Given the description of an element on the screen output the (x, y) to click on. 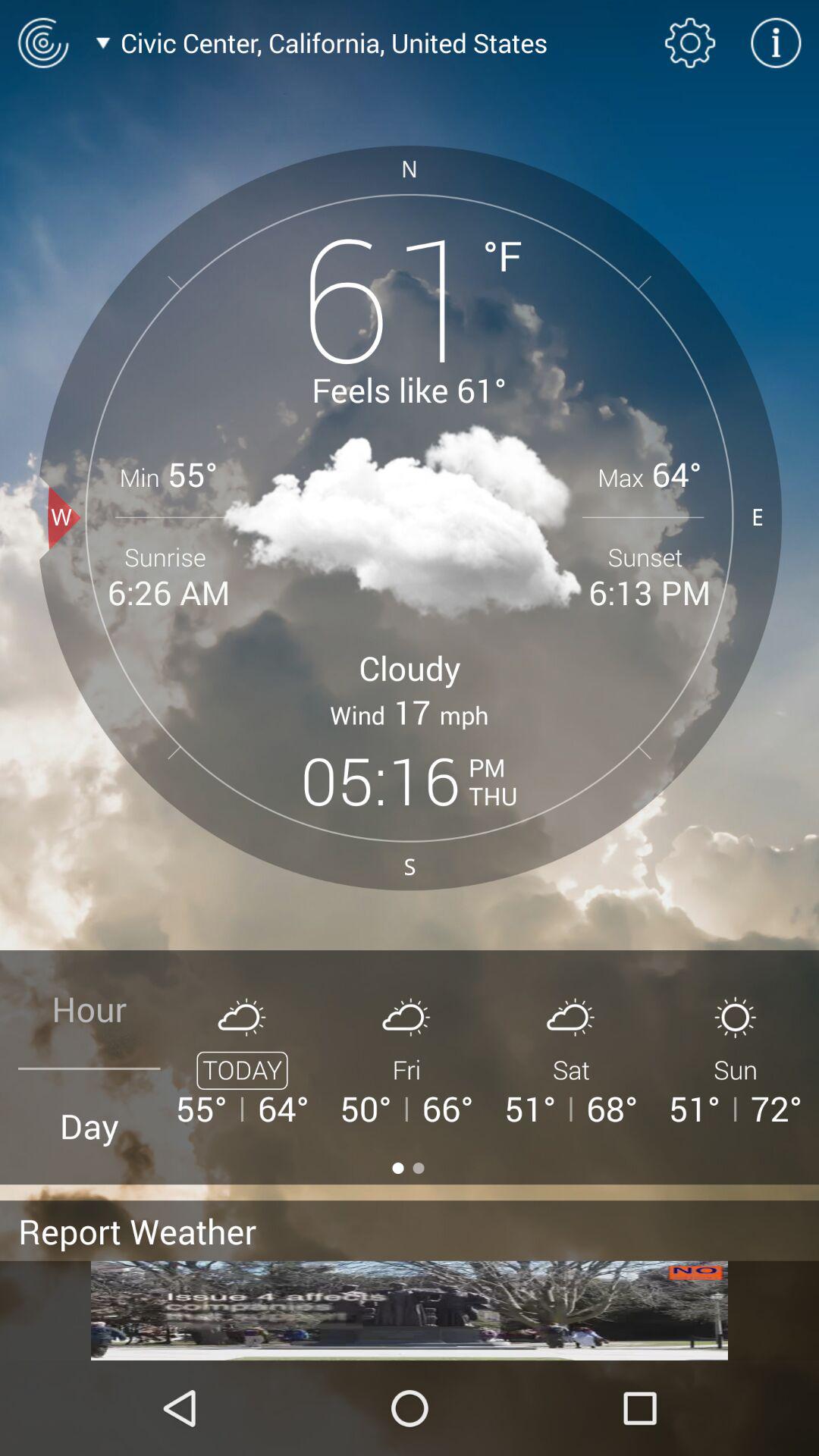
information (776, 42)
